Given the description of an element on the screen output the (x, y) to click on. 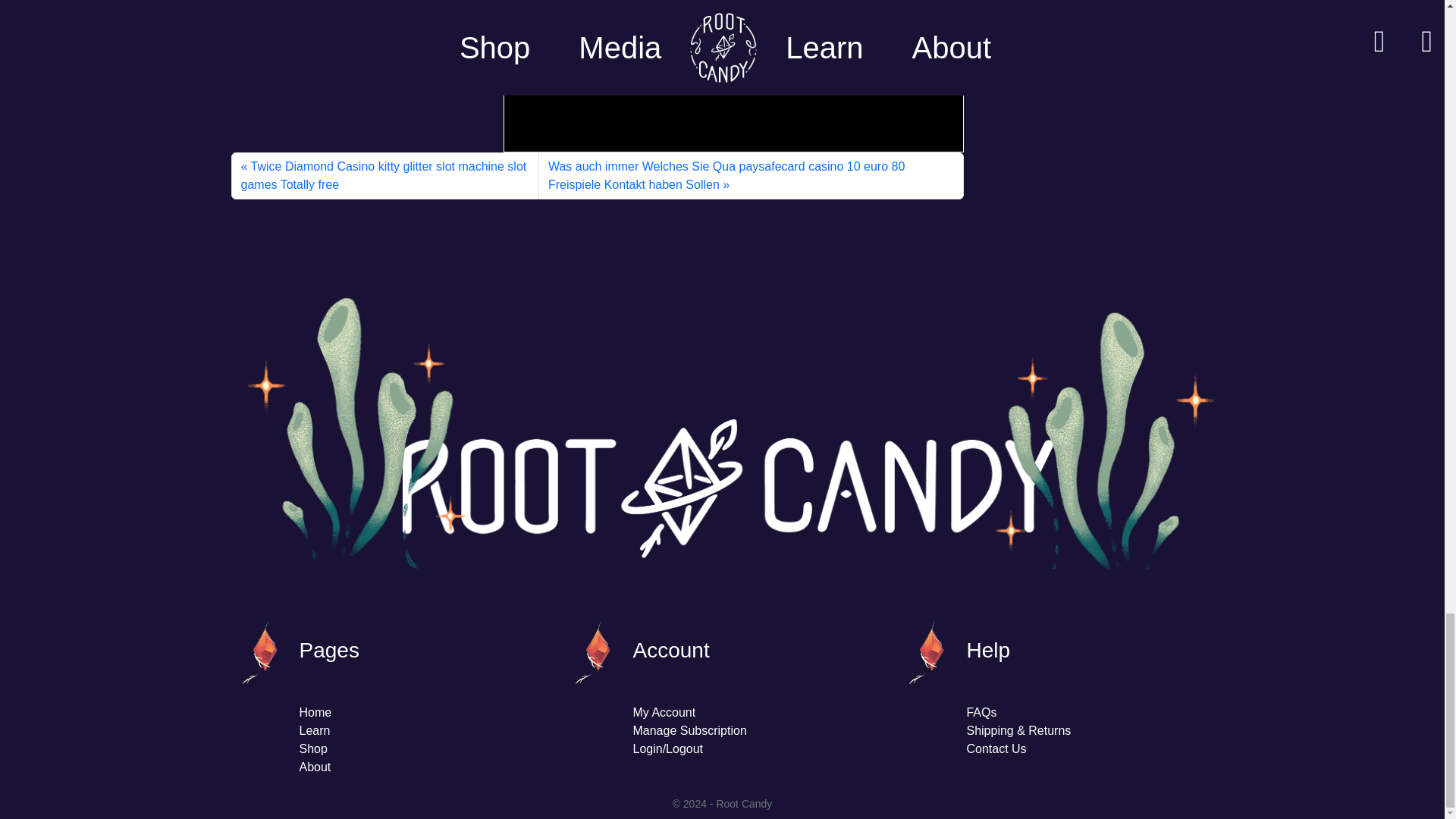
My Account (663, 712)
Shop (312, 748)
Contact Us (996, 748)
About (314, 766)
Home (314, 712)
Manage Subscription (688, 730)
Learn (314, 730)
FAQs (980, 712)
